Given the description of an element on the screen output the (x, y) to click on. 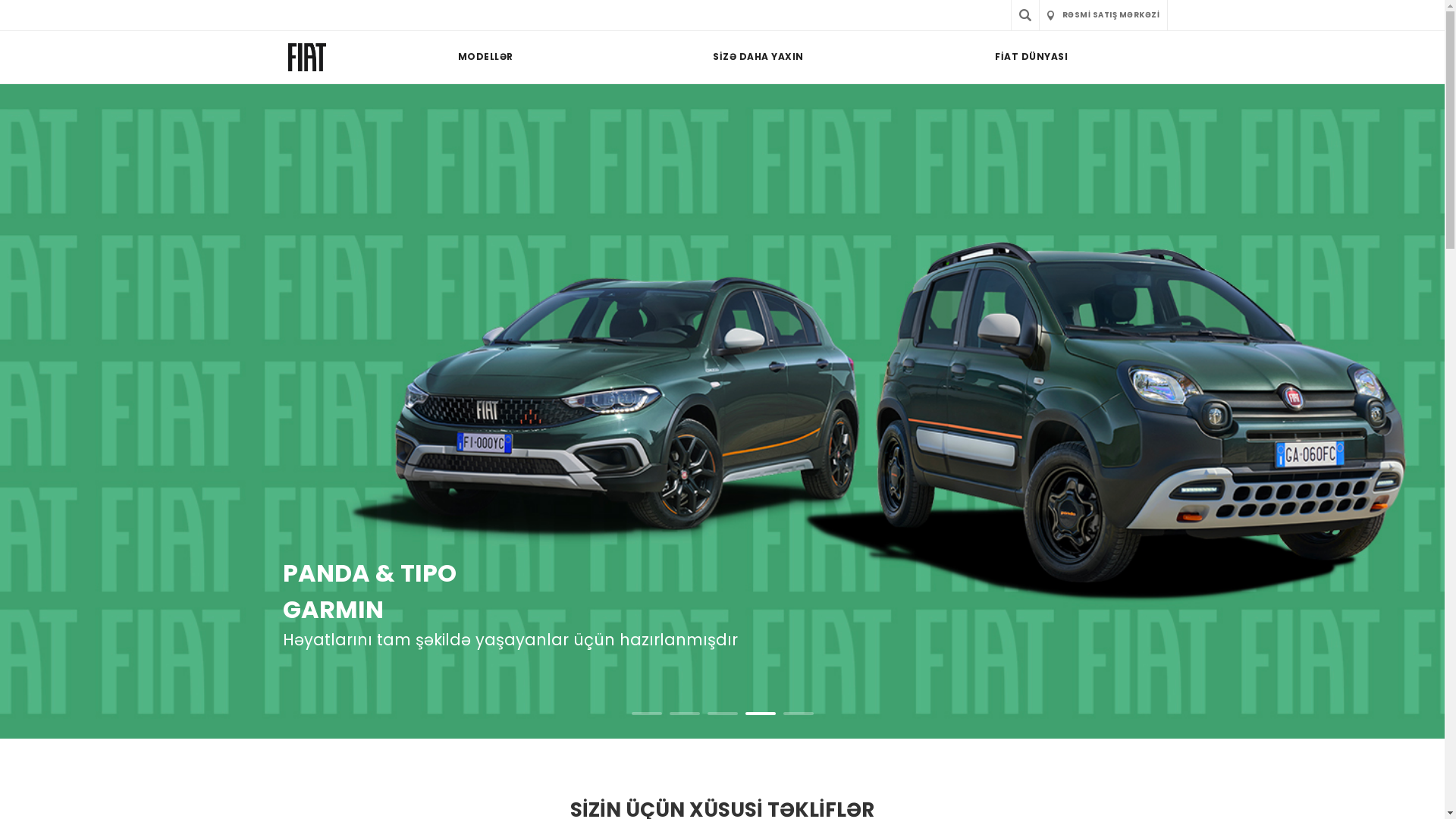
4 Element type: text (759, 714)
2 Element type: text (683, 714)
1 Element type: text (645, 714)
5 Element type: text (797, 714)
3 Element type: text (721, 714)
